Given the description of an element on the screen output the (x, y) to click on. 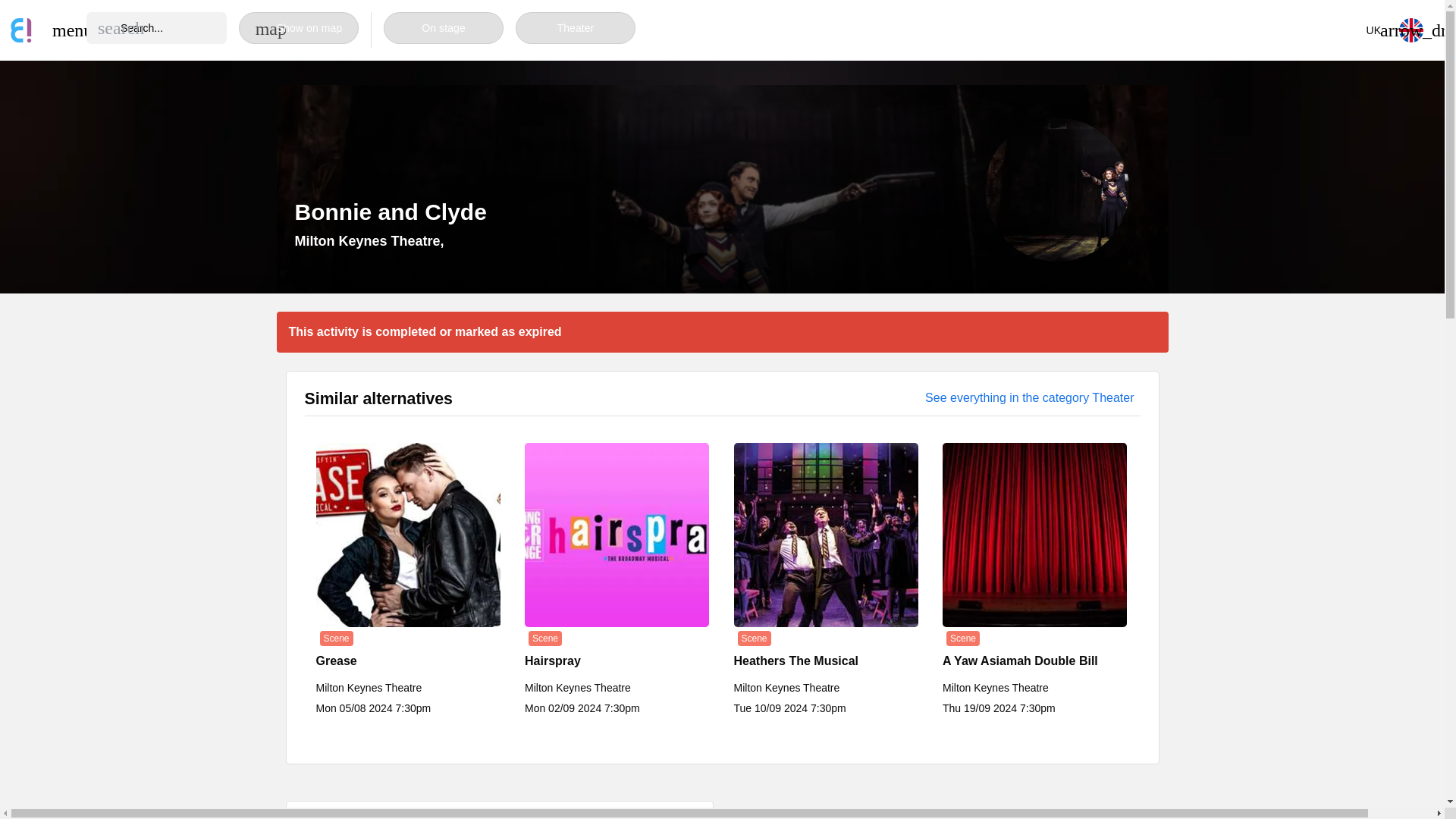
Show on google maps. (369, 240)
Milton Keynes Theatre, (369, 240)
search (120, 26)
On stage (443, 28)
menu (63, 30)
map Show on map (298, 28)
See everything in the category Theater (1029, 397)
Theater (574, 28)
